Given the description of an element on the screen output the (x, y) to click on. 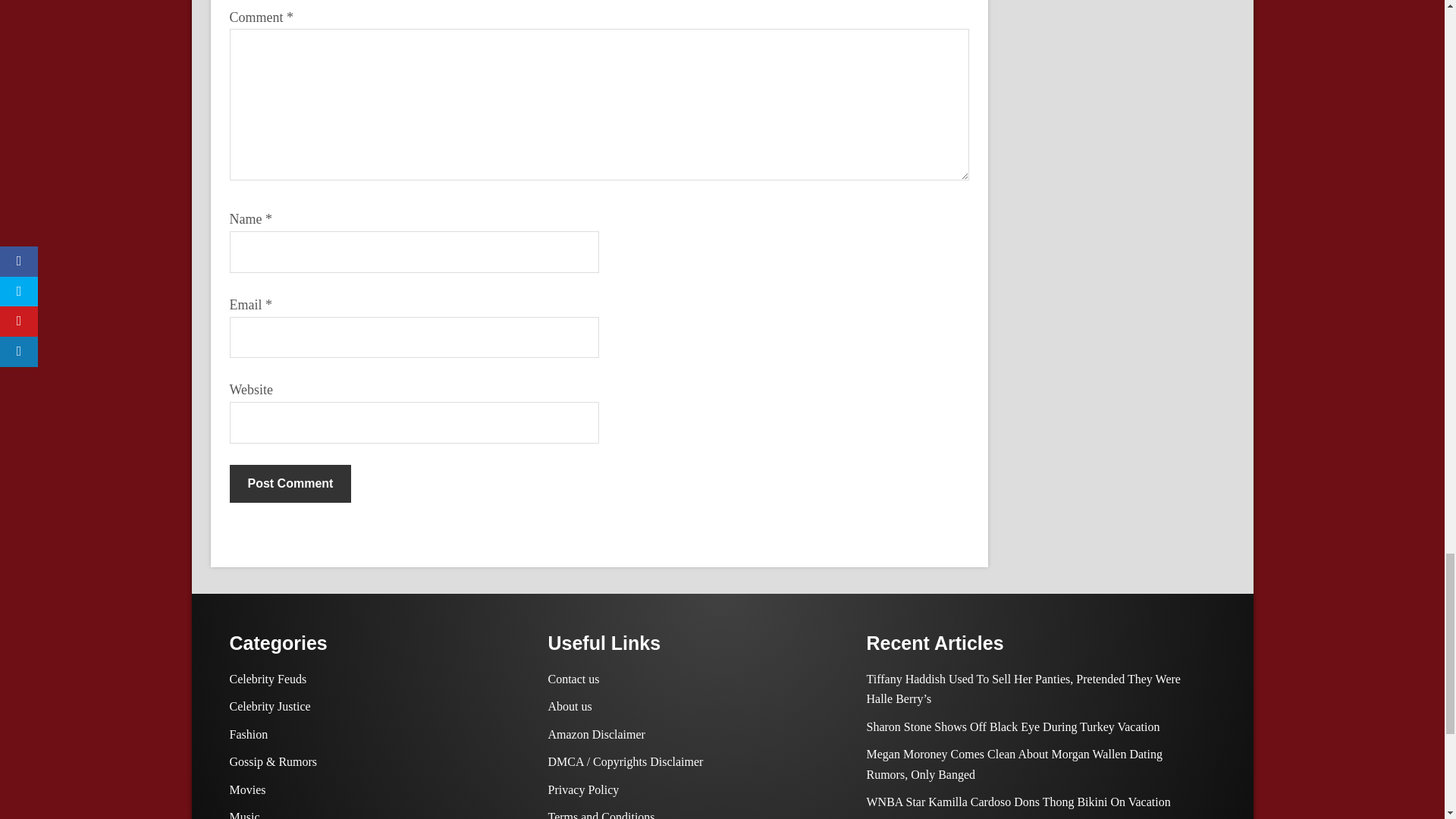
Post Comment (289, 483)
